Given the description of an element on the screen output the (x, y) to click on. 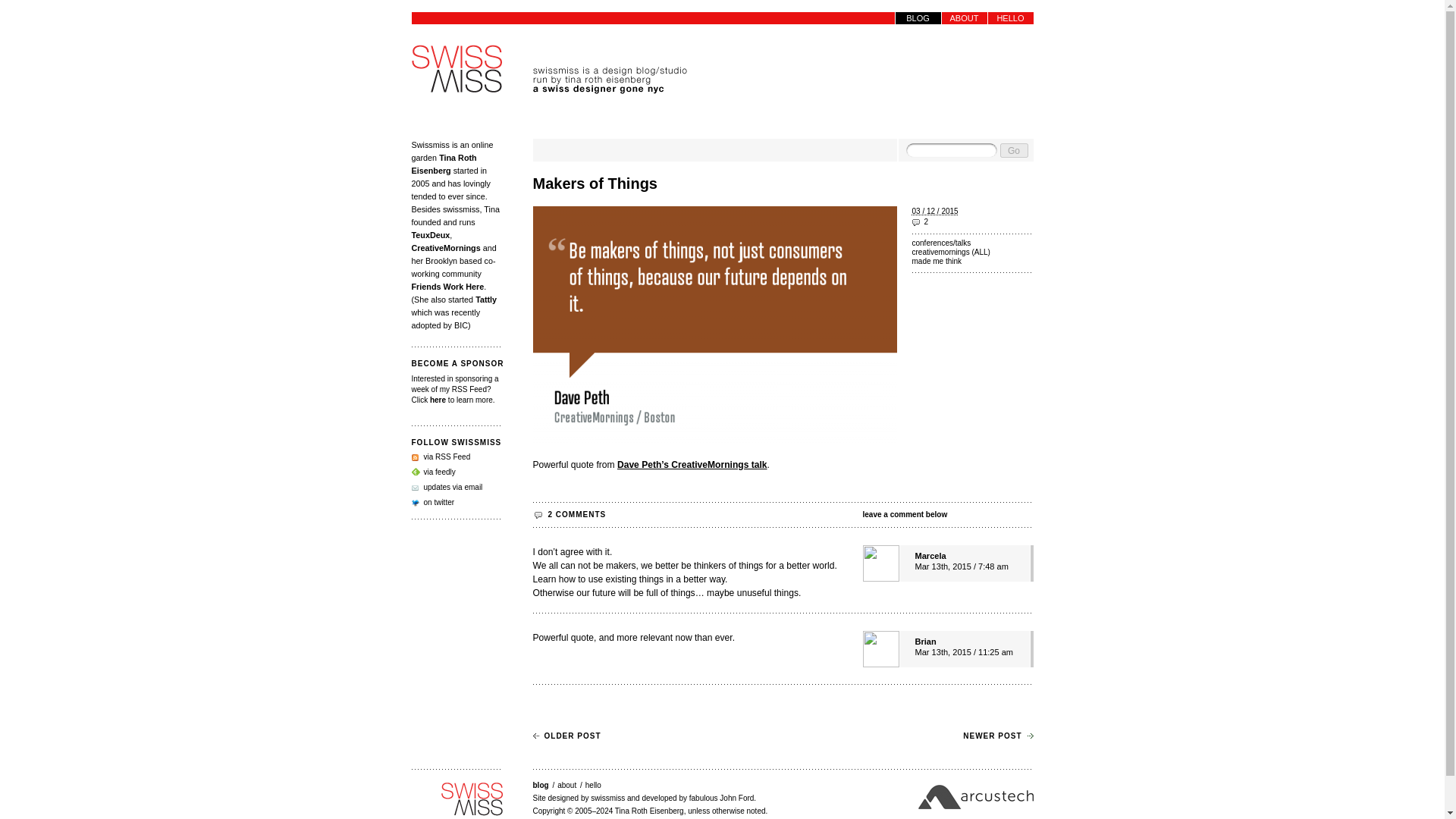
Site designed by swissmiss (578, 797)
Tina Roth Eisenberg (443, 164)
via feedly (432, 471)
CreativeMornings (445, 247)
Arcustech (974, 796)
Friends Work Here (446, 286)
swissmiss (456, 798)
about (566, 785)
2 (971, 222)
updates via email (445, 487)
on twitter (432, 501)
developed by fabulous John Ford. (698, 797)
ABOUT (964, 18)
hello (593, 785)
BLOG (917, 18)
